Given the description of an element on the screen output the (x, y) to click on. 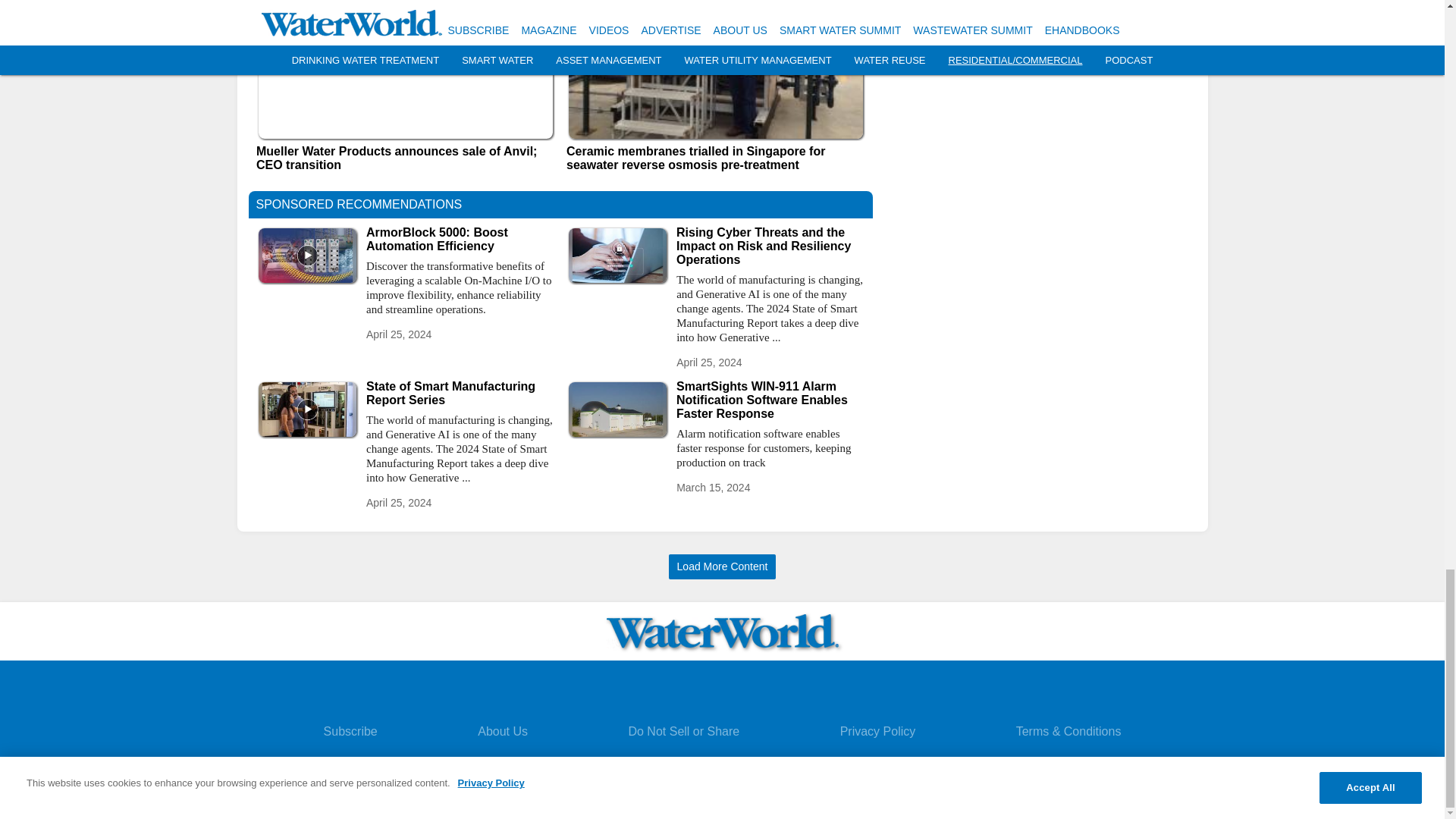
State of Smart Manufacturing Report Series (459, 393)
ArmorBlock 5000: Boost Automation Efficiency (459, 239)
